Given the description of an element on the screen output the (x, y) to click on. 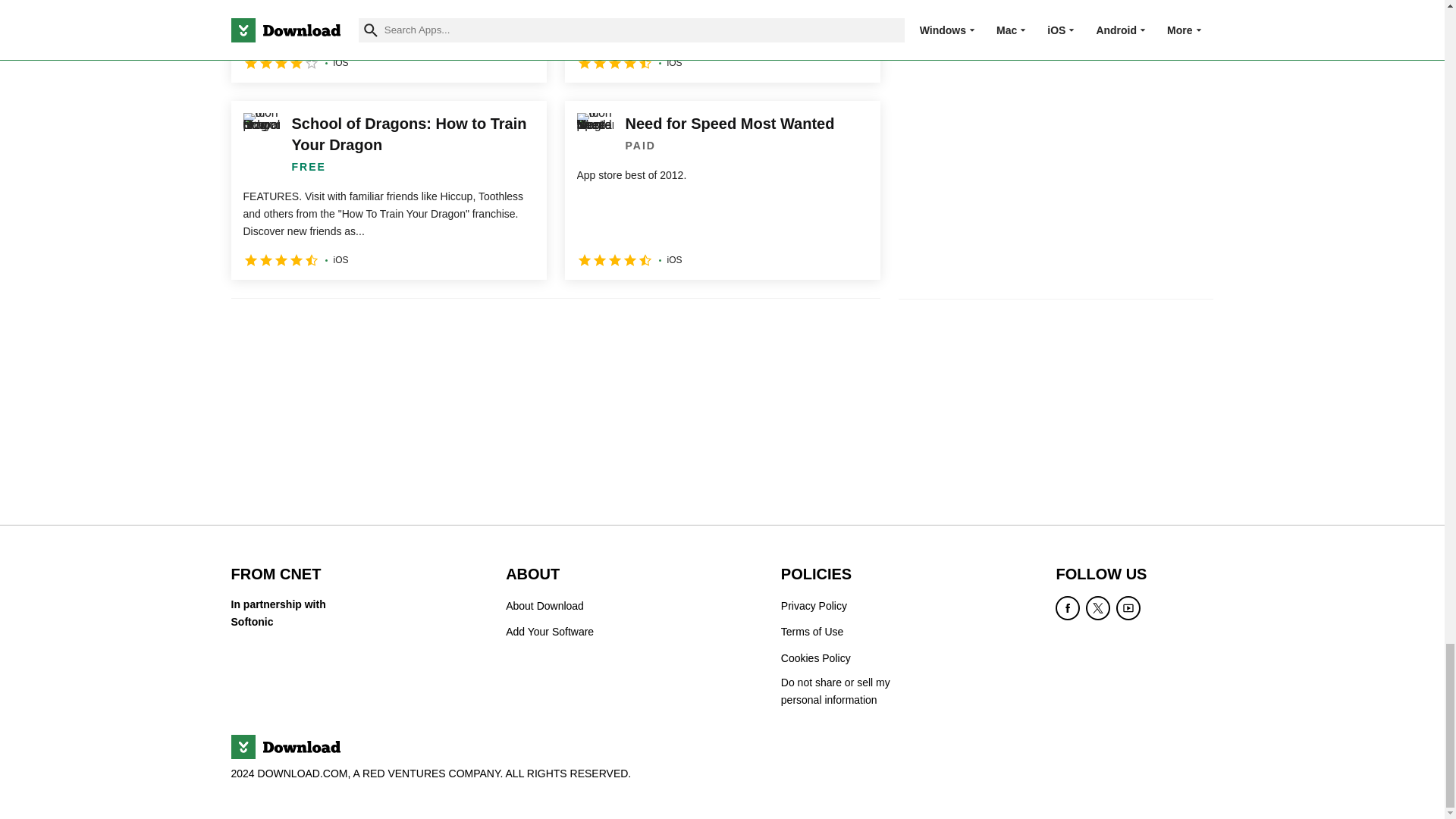
Need for Speed Most Wanted (721, 190)
School of Dragons: How to Train Your Dragon (388, 190)
Download.com (284, 746)
Become a Facebook fan of Download.com (1067, 607)
Mini Militia - Doodle Army 2 (388, 40)
CUPHEAD MOBILE (721, 40)
